Given the description of an element on the screen output the (x, y) to click on. 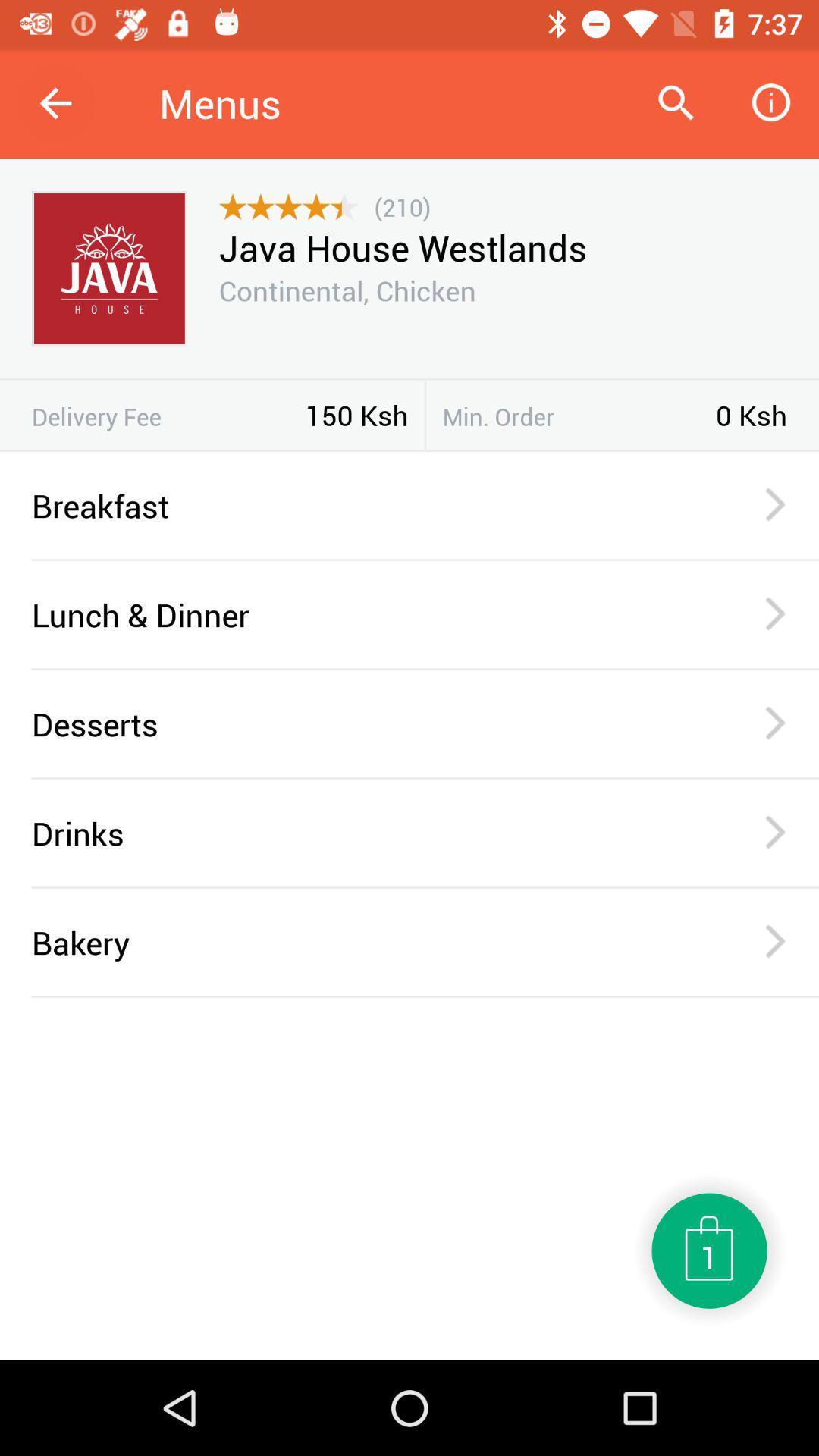
open item below the menus icon (288, 207)
